Given the description of an element on the screen output the (x, y) to click on. 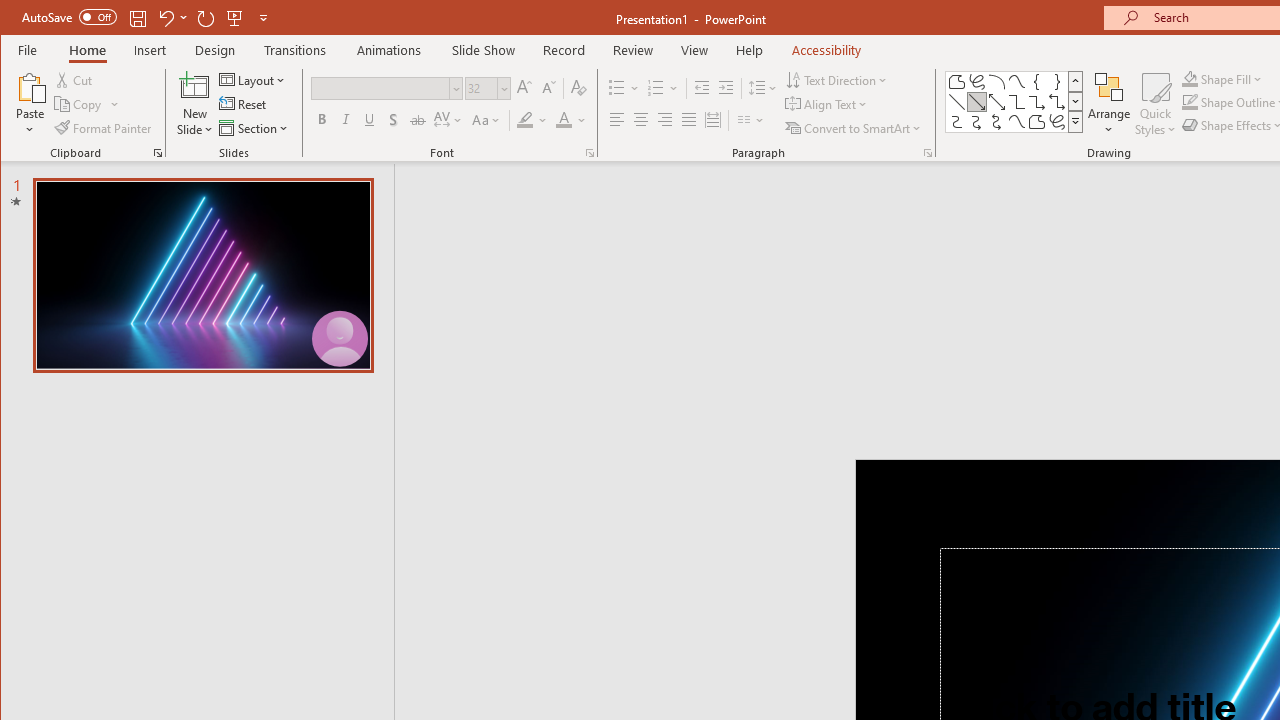
Connector: Curved Double-Arrow (996, 121)
Connector: Curved Arrow (976, 121)
